Given the description of an element on the screen output the (x, y) to click on. 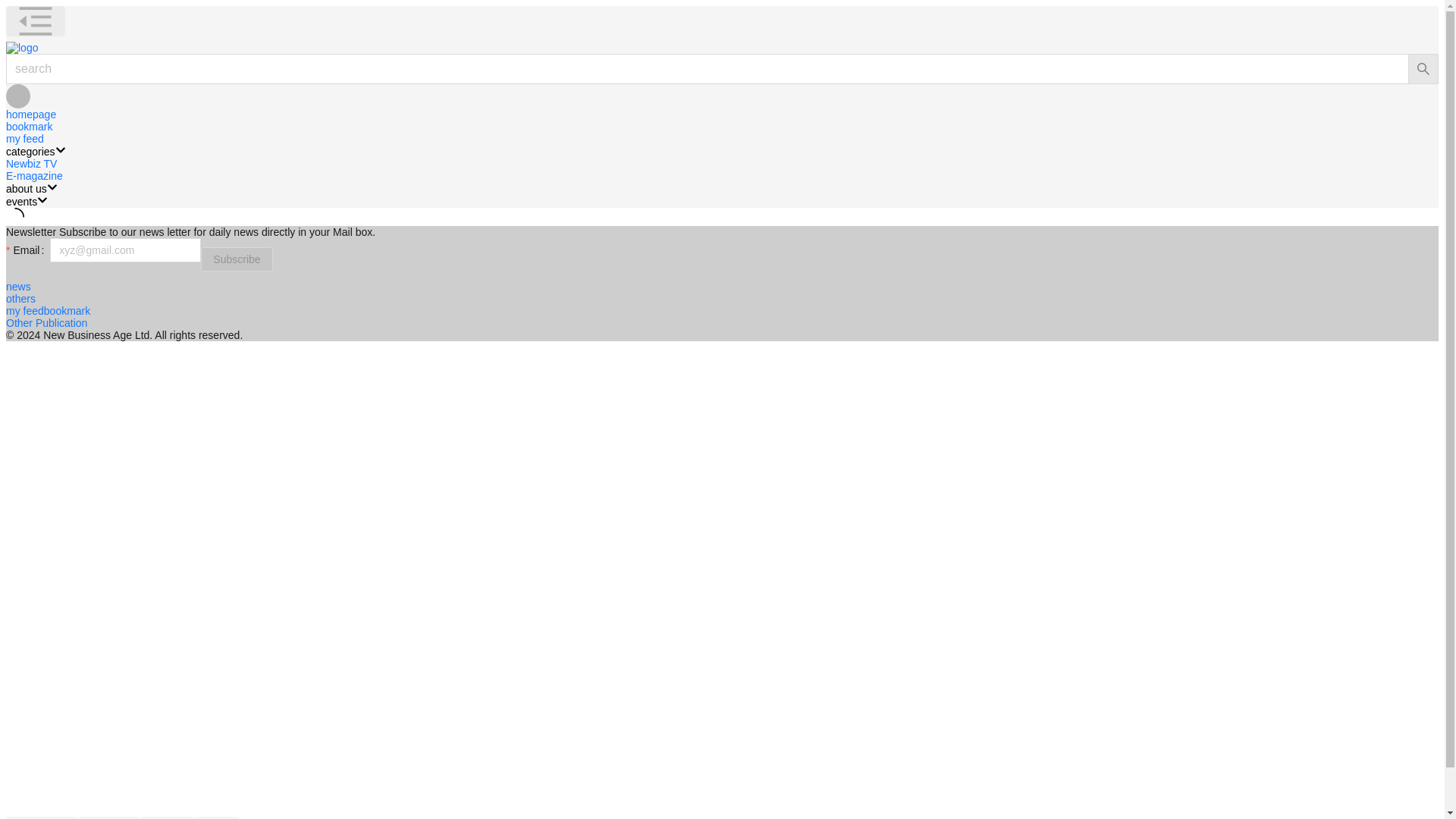
others (19, 298)
bookmark (66, 310)
homepage (30, 114)
Subscribe (236, 259)
news (17, 286)
E-magazine (33, 175)
Other Publication (46, 322)
my feed (24, 310)
my feed (24, 138)
bookmark (28, 126)
